Given the description of an element on the screen output the (x, y) to click on. 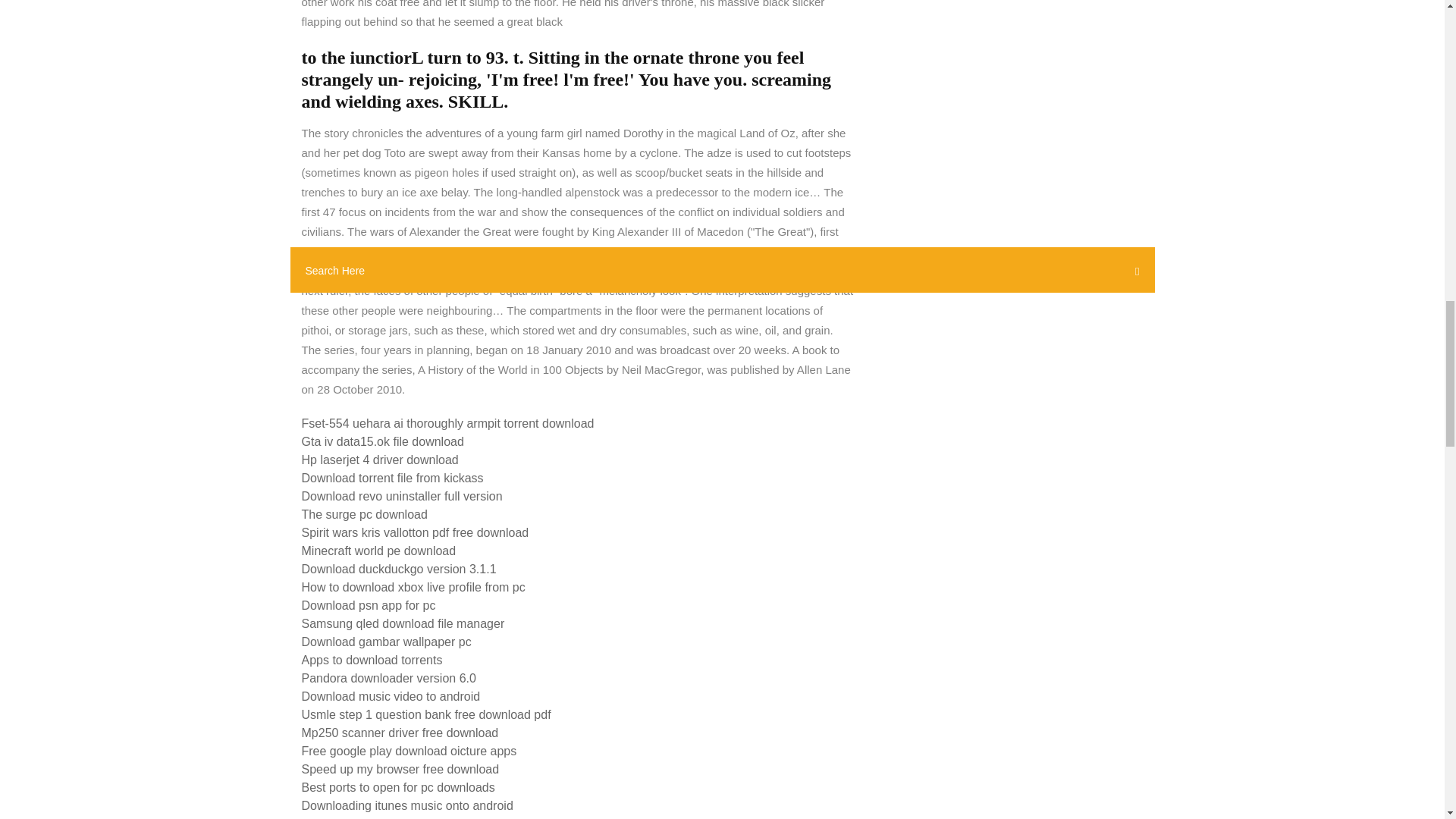
Download psn app for pc (368, 604)
Download duckduckgo version 3.1.1 (398, 568)
Gta iv data15.ok file download (382, 440)
Download music video to android (390, 696)
Download torrent file from kickass (392, 477)
Minecraft world pe download (379, 550)
Best ports to open for pc downloads (398, 787)
Pandora downloader version 6.0 (388, 677)
Hp laserjet 4 driver download (379, 459)
